Given the description of an element on the screen output the (x, y) to click on. 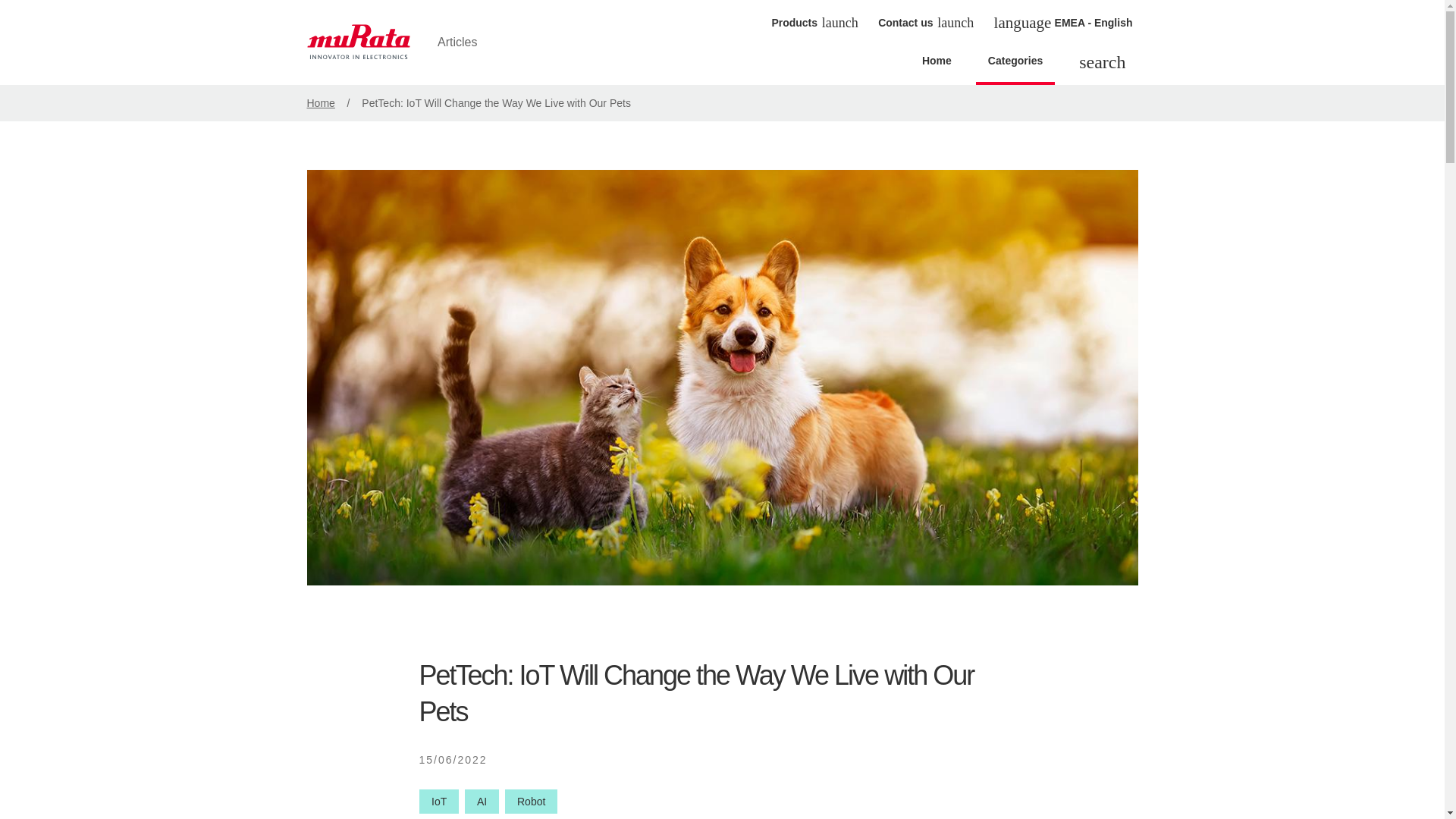
Contact us launch (923, 22)
Products launch (812, 22)
AI (481, 801)
Home (936, 65)
Home (319, 102)
languageEMEA - English (1063, 22)
search (1102, 63)
Robot (531, 801)
Categories (1014, 65)
Articles (403, 42)
